Given the description of an element on the screen output the (x, y) to click on. 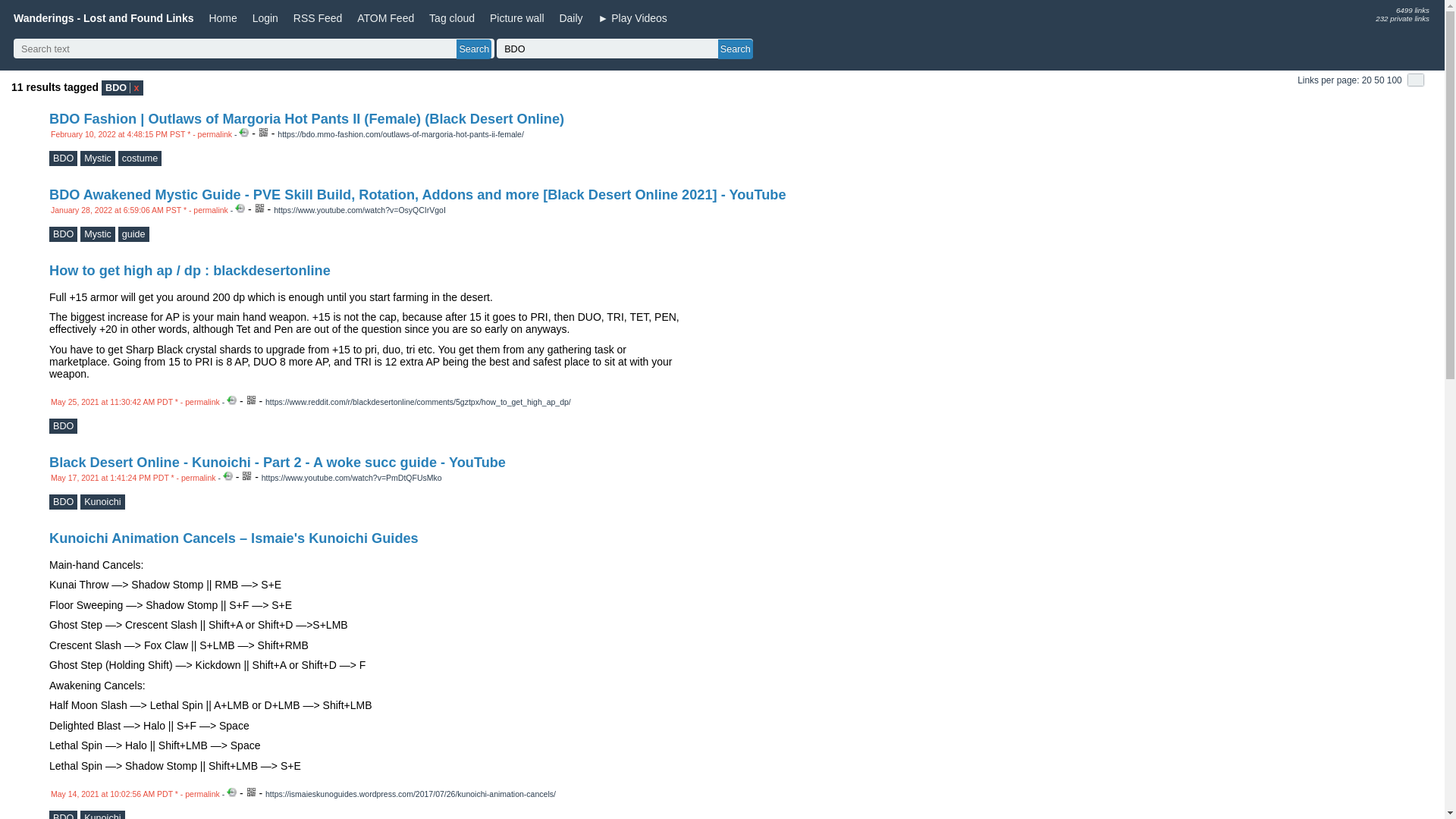
QR-Code (259, 207)
Search (474, 48)
RSS Feed (317, 17)
View on archive.org (239, 207)
Add tag (97, 158)
Remove tag (121, 87)
Search (474, 48)
Daily (570, 17)
Tag cloud (452, 17)
Short link (400, 133)
